Given the description of an element on the screen output the (x, y) to click on. 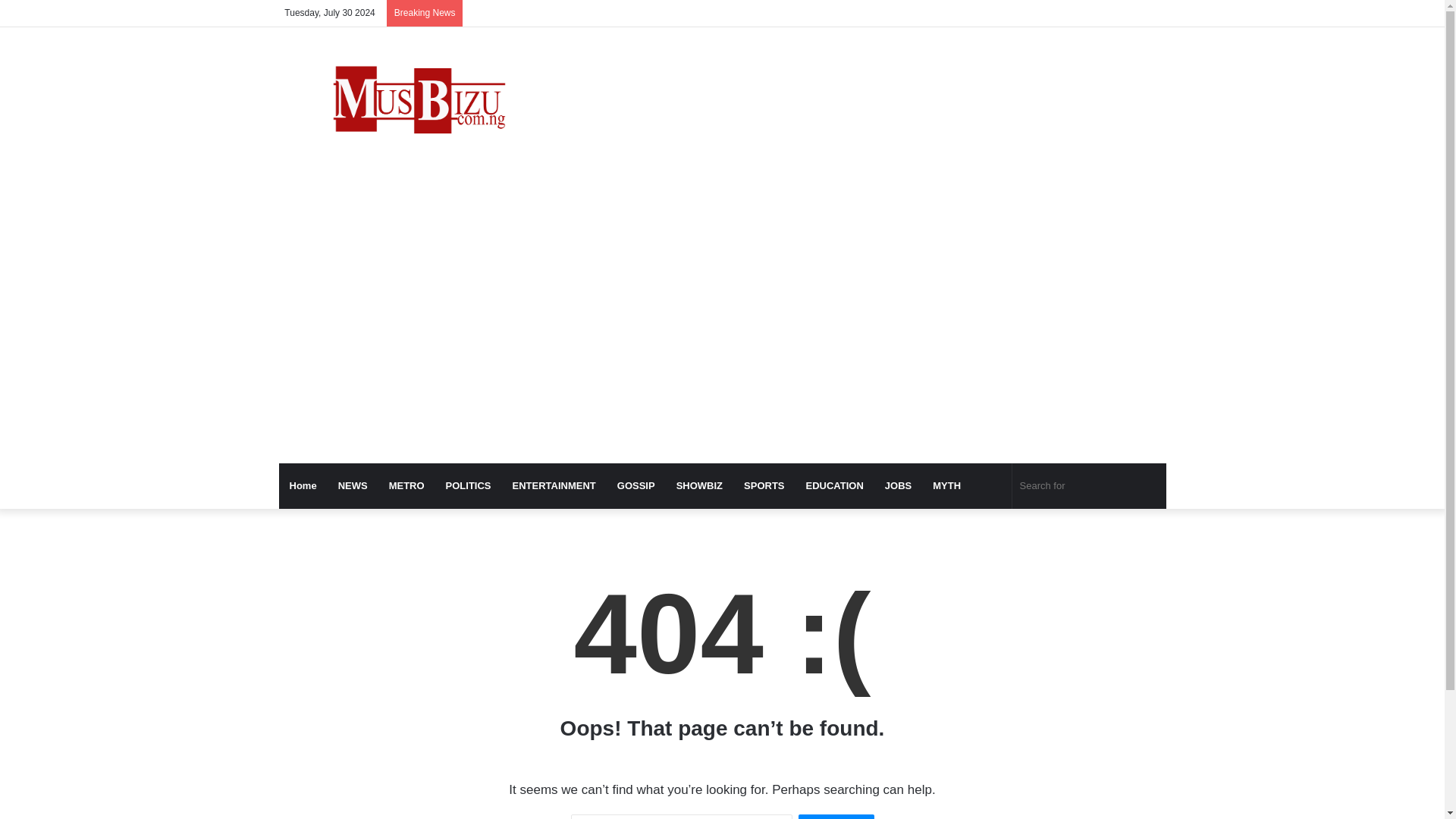
Search (835, 816)
EDUCATION (834, 485)
SHOWBIZ (699, 485)
Search (835, 816)
GOSSIP (636, 485)
METRO (406, 485)
NEWS (352, 485)
Search for (1088, 485)
JOBS (898, 485)
SPORTS (763, 485)
POLITICS (468, 485)
ENTERTAINMENT (554, 485)
Home (303, 485)
MYTH (946, 485)
